Given the description of an element on the screen output the (x, y) to click on. 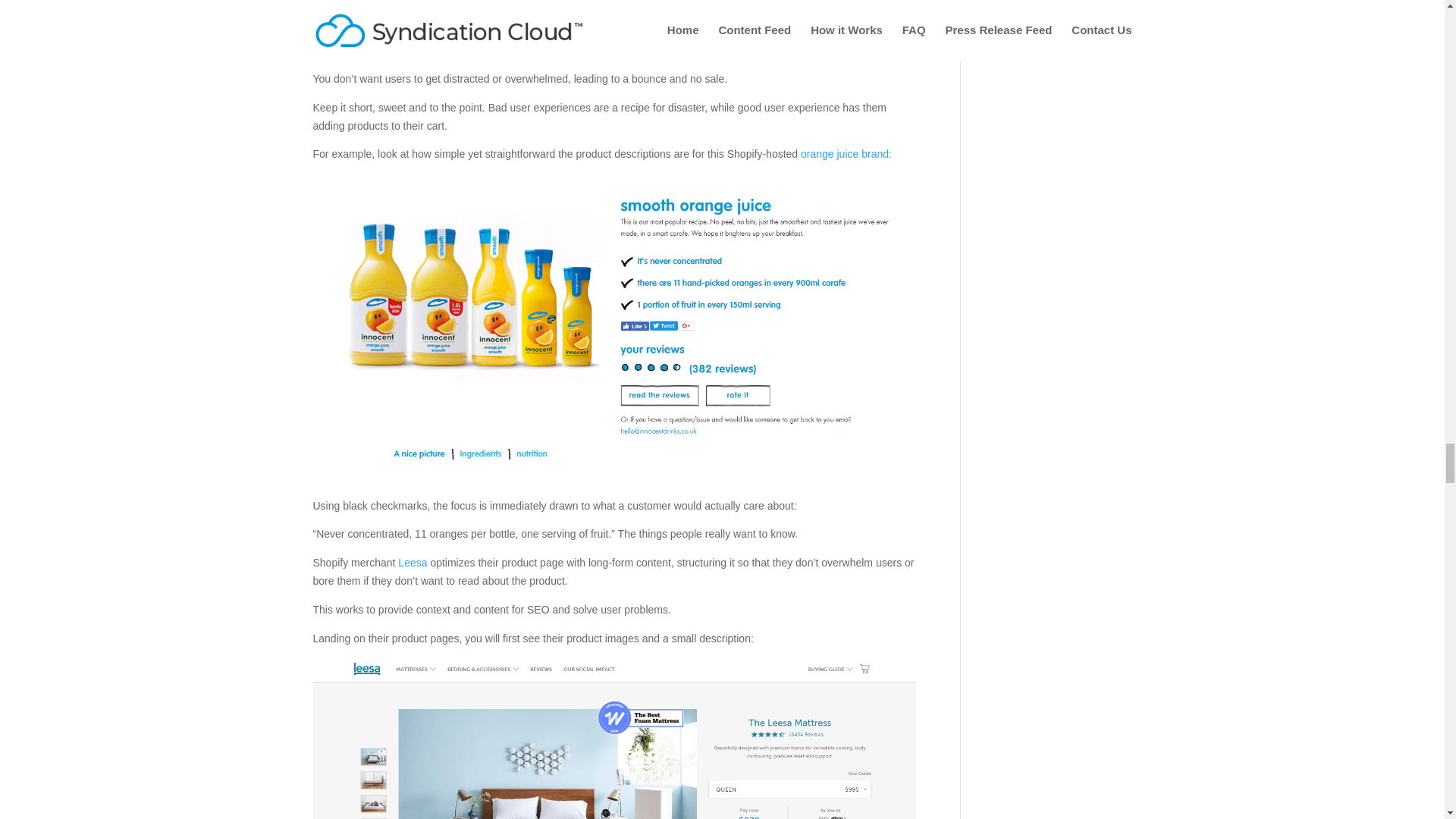
orange juice brand: (845, 153)
Leesa (411, 562)
